Given the description of an element on the screen output the (x, y) to click on. 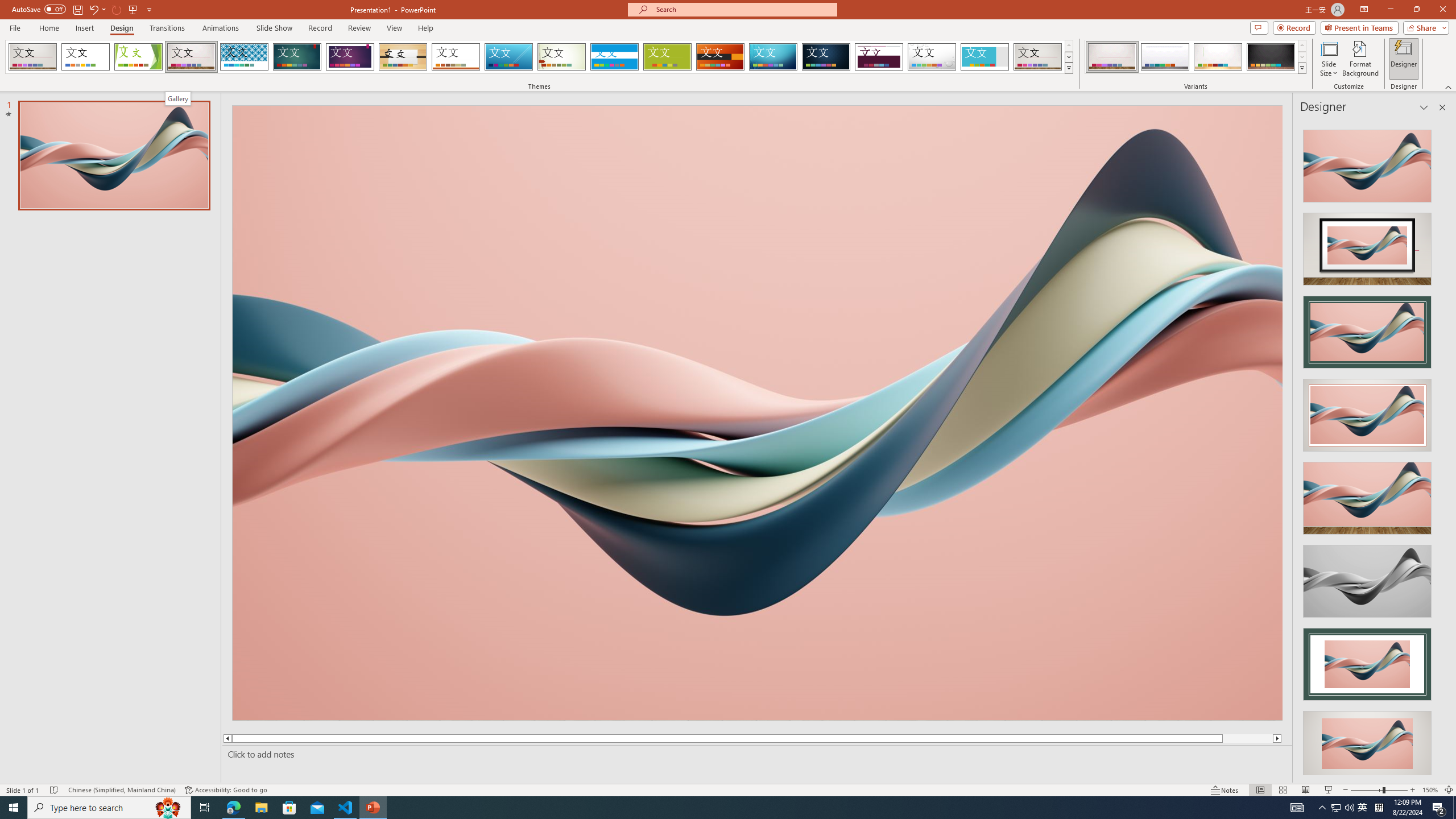
Facet (138, 56)
Gallery Variant 2 (1164, 56)
Class: NetUIScrollBar (1441, 447)
Slice (508, 56)
Recommended Design: Design Idea (1366, 162)
Format Background (1360, 58)
AdornVTI (32, 56)
Ion (296, 56)
